Given the description of an element on the screen output the (x, y) to click on. 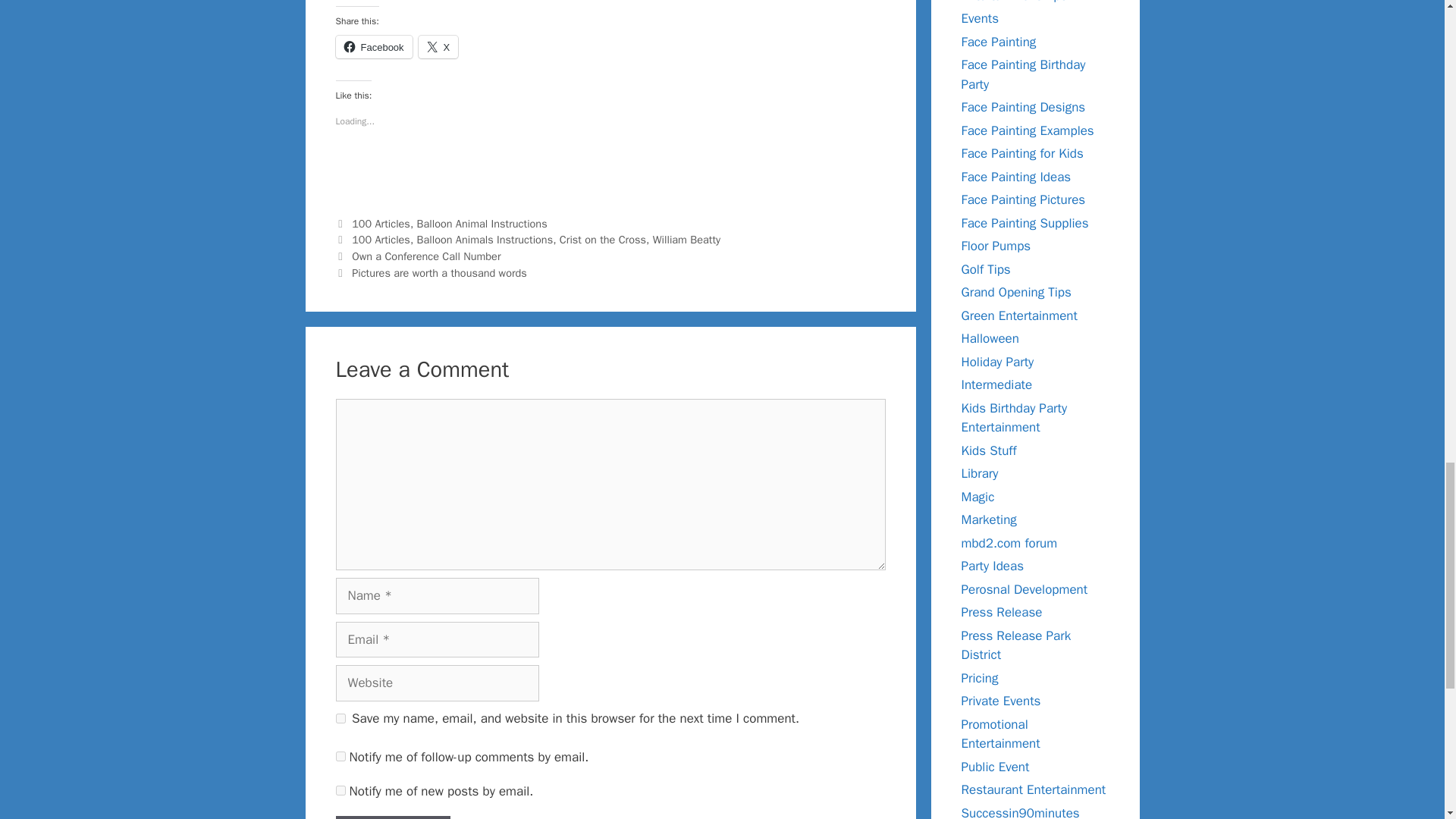
Own a Conference Call Number (426, 255)
Balloon Animals Instructions (484, 239)
Post Comment (391, 817)
William Beatty (686, 239)
Crist on the Cross (602, 239)
subscribe (339, 790)
Pictures are worth a thousand words (439, 273)
X (438, 47)
100 Articles (381, 239)
Click to share on Facebook (373, 47)
Like or Reblog (609, 173)
100 Articles (381, 223)
yes (339, 718)
Facebook (373, 47)
Click to share on X (438, 47)
